Given the description of an element on the screen output the (x, y) to click on. 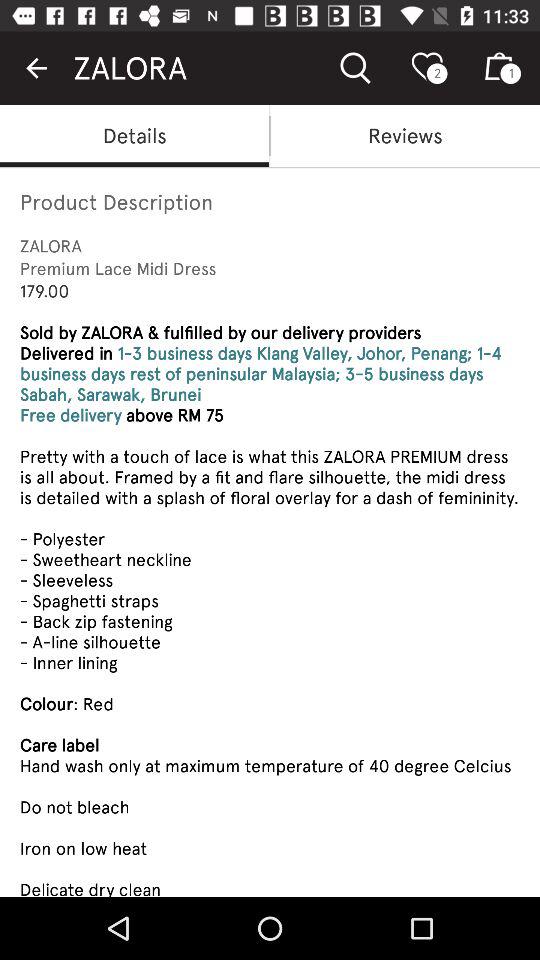
flip until details icon (134, 135)
